Given the description of an element on the screen output the (x, y) to click on. 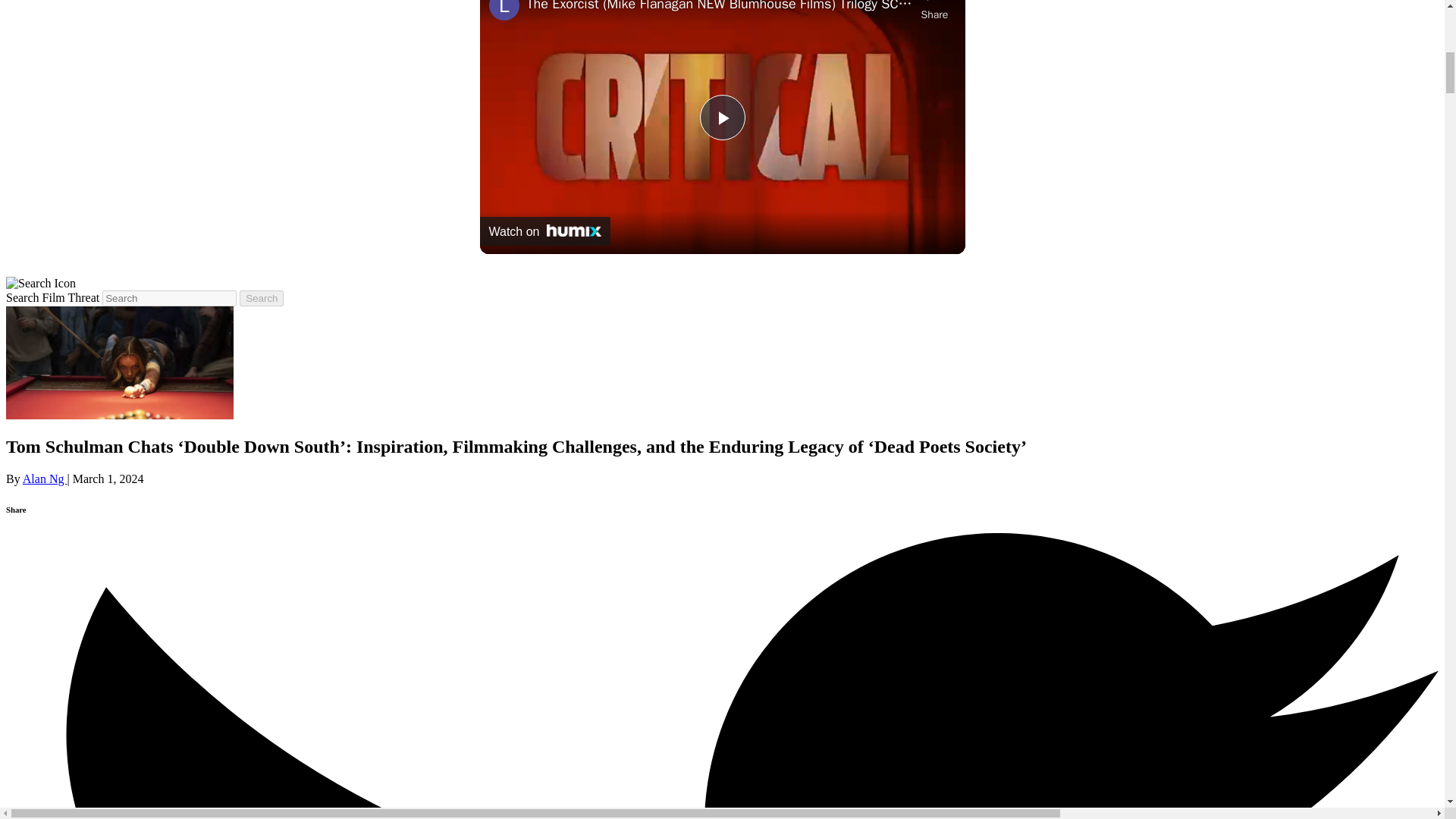
Share (933, 11)
share (933, 11)
Alan Ng (44, 478)
Search (261, 298)
Play Video (721, 117)
Play Video (721, 117)
Search (261, 298)
Watch on (544, 231)
